Given the description of an element on the screen output the (x, y) to click on. 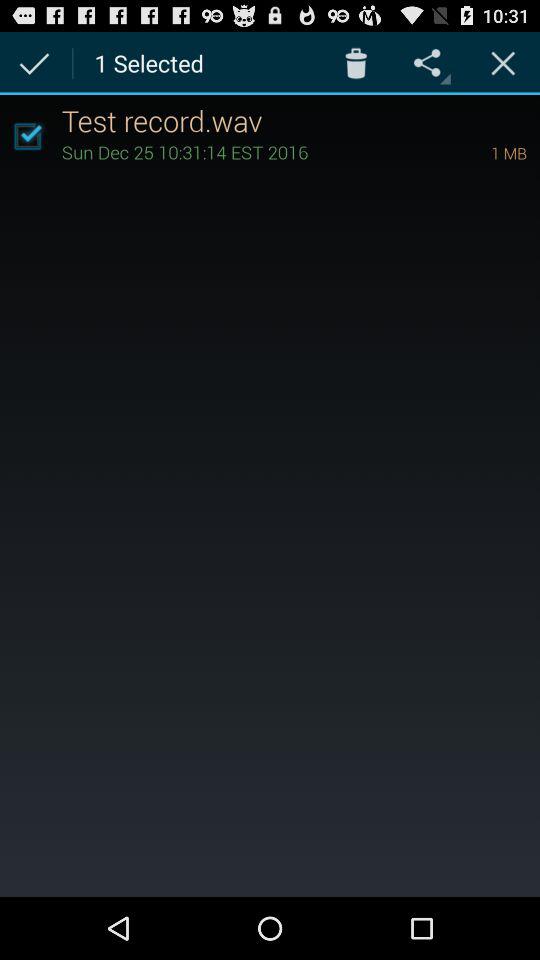
launch the item above the sun dec 25 app (300, 120)
